Given the description of an element on the screen output the (x, y) to click on. 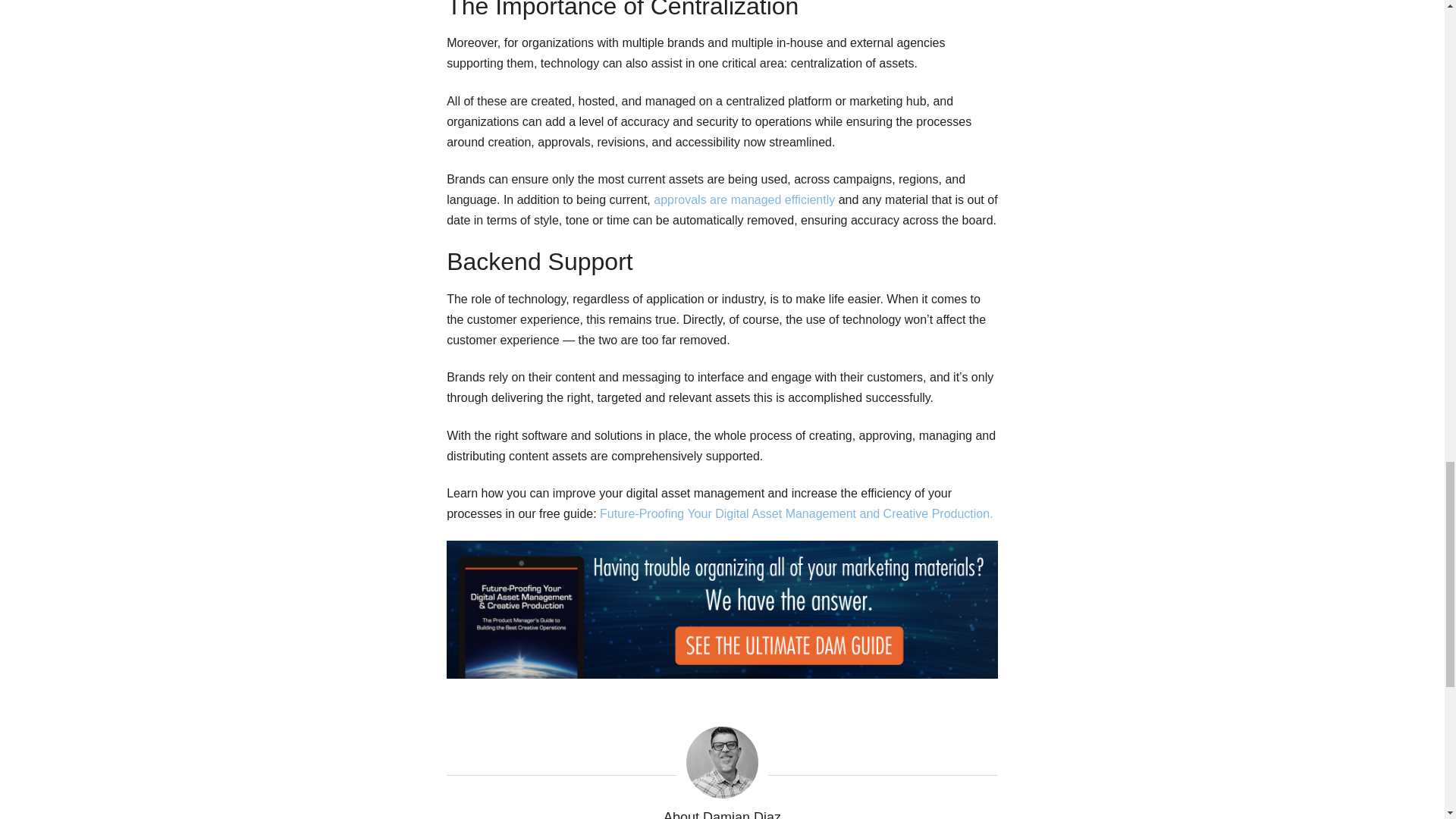
Damian Diaz (722, 761)
